Given the description of an element on the screen output the (x, y) to click on. 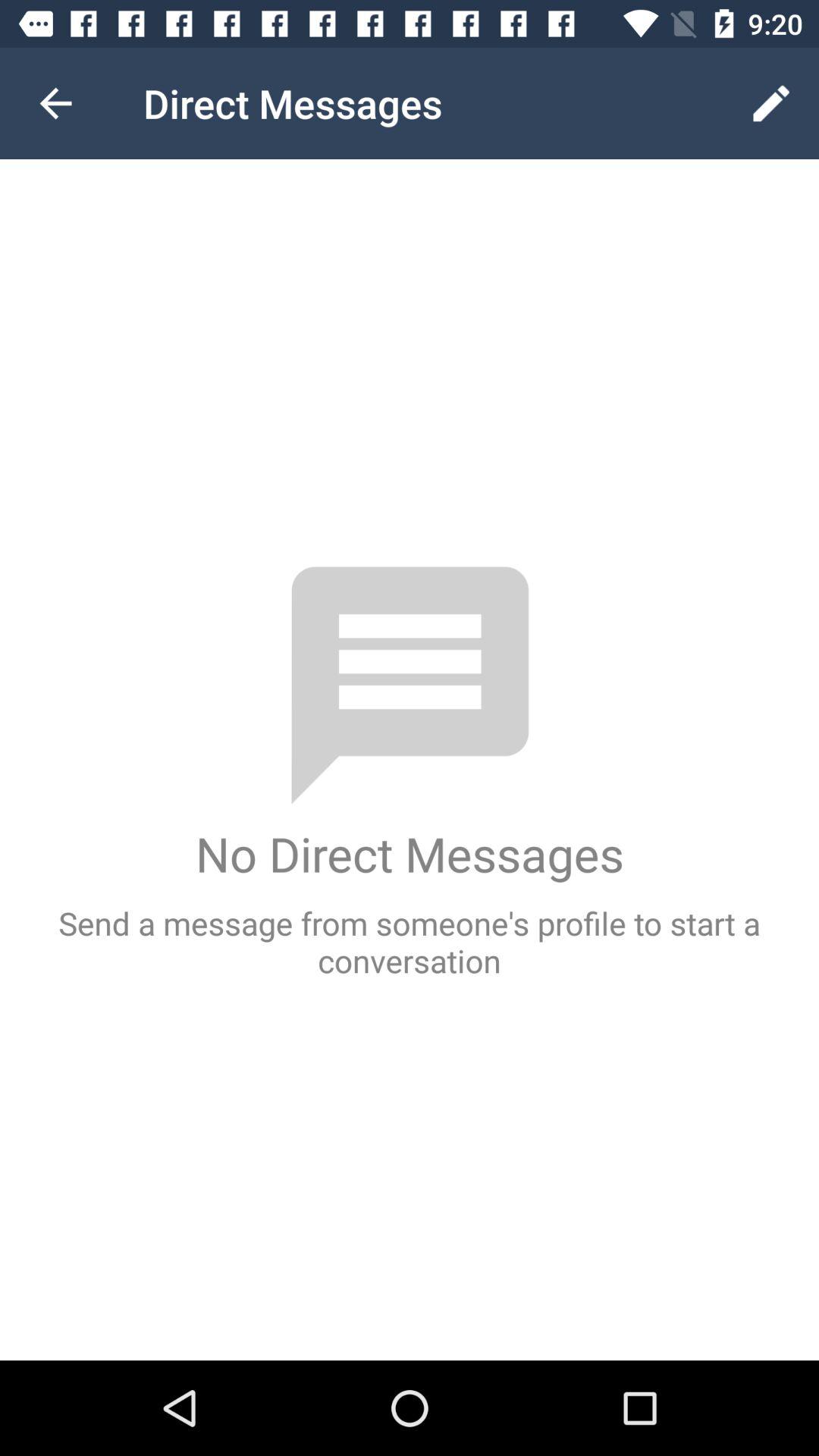
press icon to the right of the direct messages (771, 103)
